Given the description of an element on the screen output the (x, y) to click on. 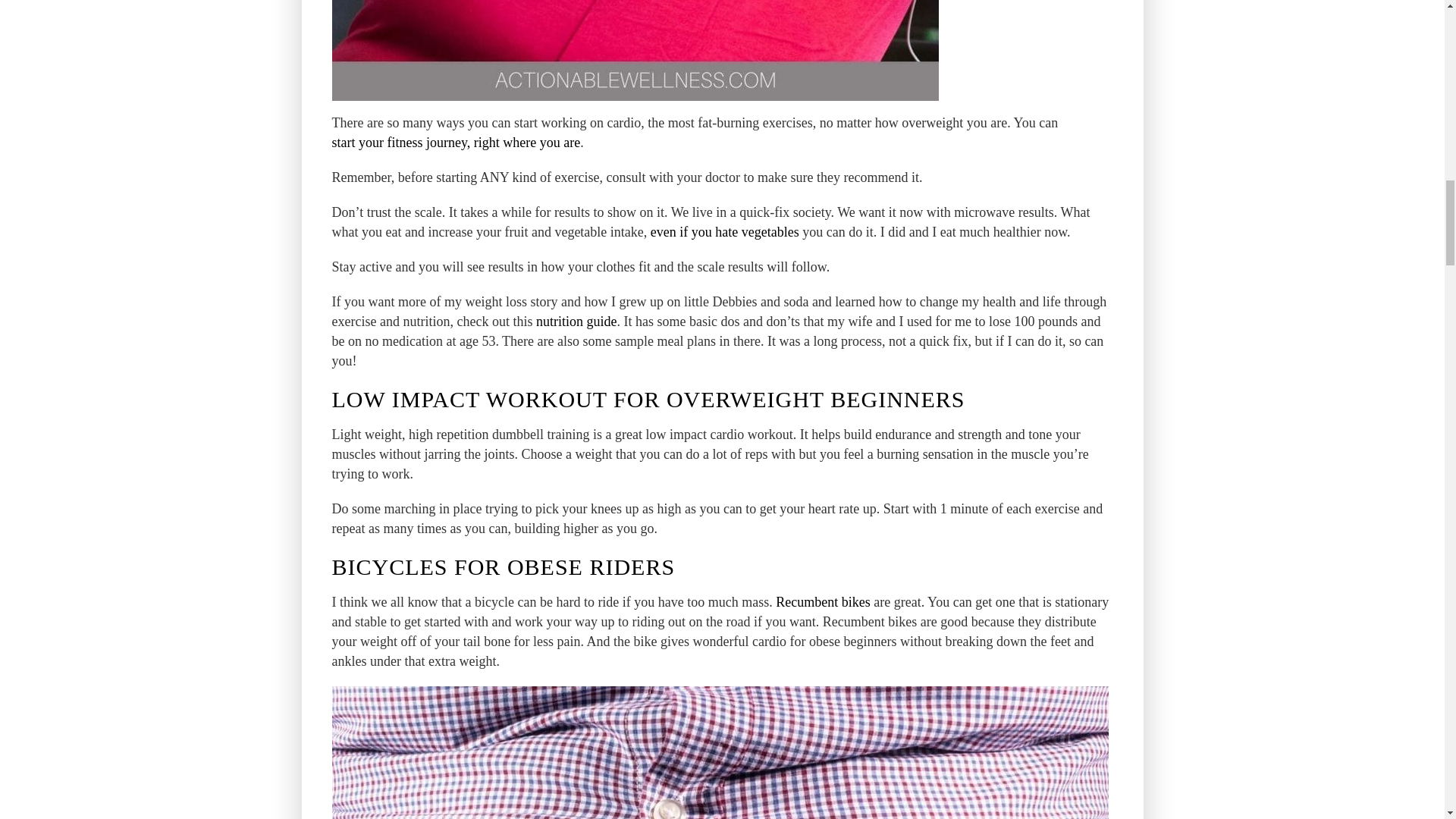
start your fitness journey, right where you are (455, 142)
Recumbent bikes (822, 601)
even if you hate vegetables (724, 231)
nutrition guide (576, 321)
